Given the description of an element on the screen output the (x, y) to click on. 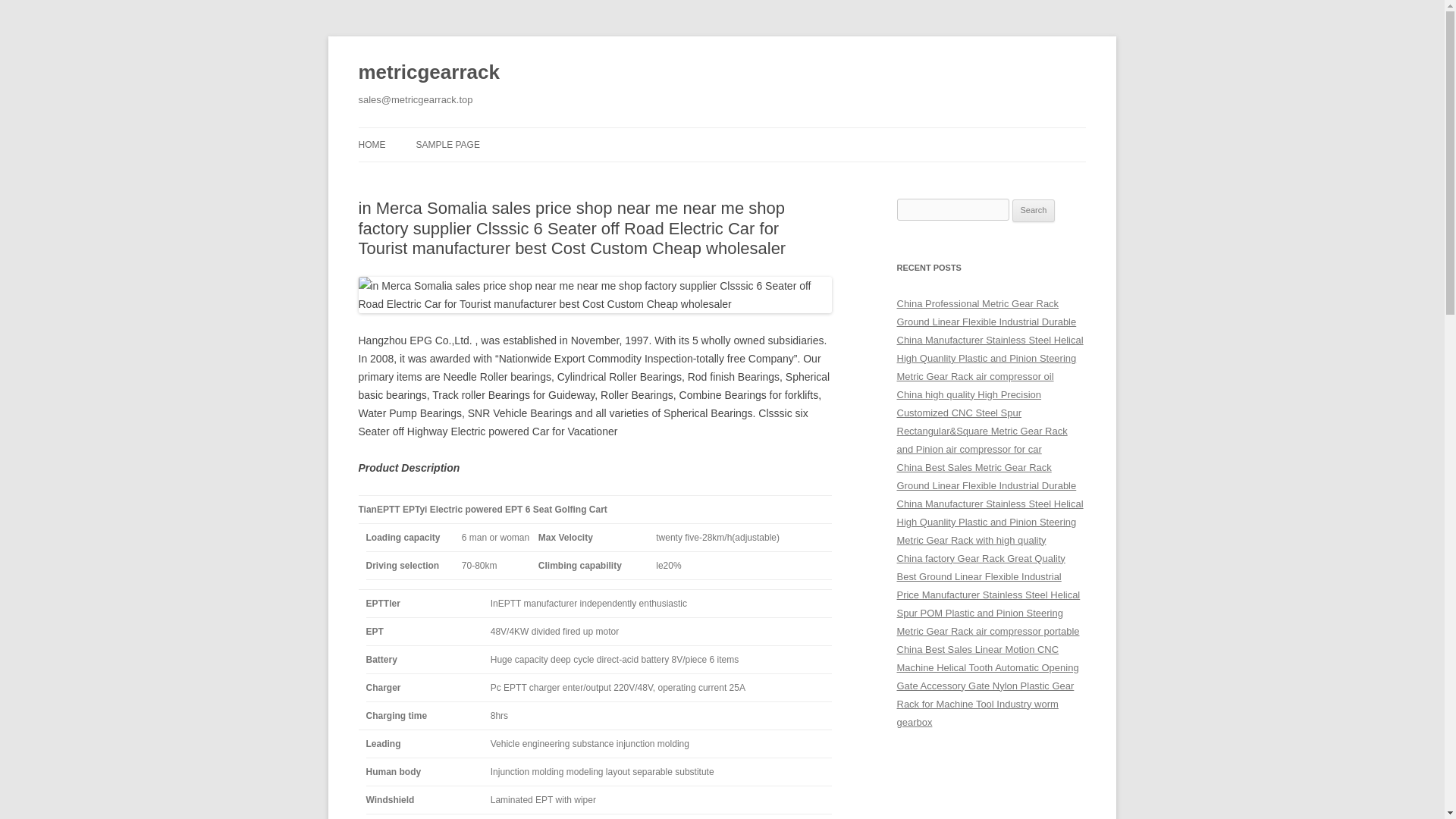
metricgearrack (428, 72)
SAMPLE PAGE (446, 144)
Search (1033, 210)
